Given the description of an element on the screen output the (x, y) to click on. 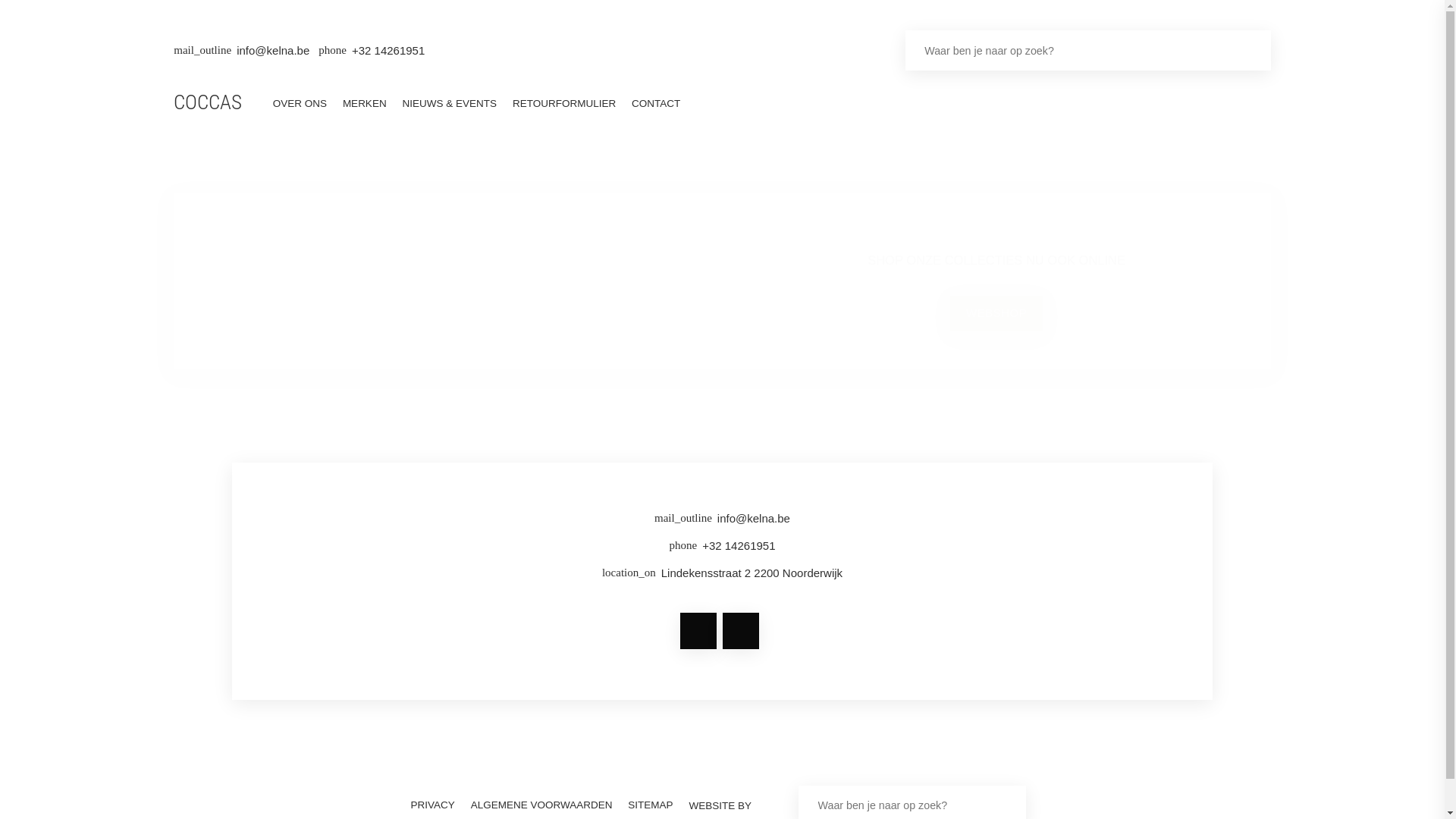
MERKEN Element type: text (364, 103)
location_on
Lindekensstraat 2 2200 Noorderwijk Element type: text (722, 575)
COCCAS Element type: text (207, 104)
phone
+32 14261951 Element type: text (722, 548)
WEBSHOP Element type: text (996, 312)
mail_outline
info@kelna.be Element type: text (241, 50)
NIEUWS & EVENTS Element type: text (449, 103)
phone
+32 14261951 Element type: text (371, 50)
Webhero Element type: hover (770, 805)
RETOURFORMULIER Element type: text (563, 103)
COCCAS Facebook Element type: hover (698, 630)
COCCAS Instagram Element type: hover (739, 630)
CONTACT Element type: text (655, 103)
WEBSITE BY Element type: text (717, 805)
mail_outline
info@kelna.be Element type: text (722, 521)
OVER ONS Element type: text (299, 103)
